Given the description of an element on the screen output the (x, y) to click on. 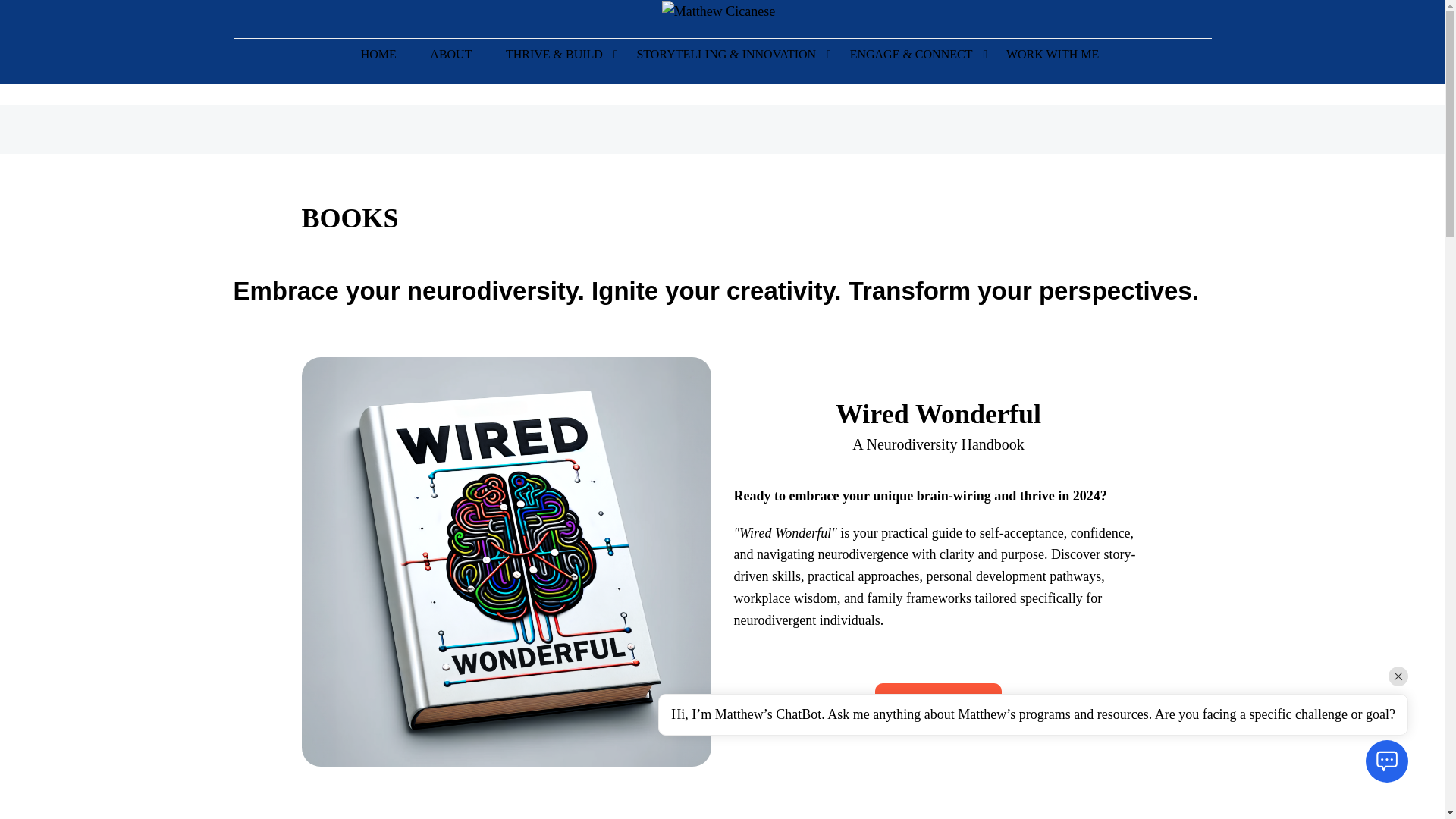
ABOUT (450, 61)
Matthew Cicanese - DEIA Speaker, Educator, and Consultant (718, 11)
HOME (379, 61)
Join the Waitlist (938, 705)
WORK WITH ME (1045, 61)
